Given the description of an element on the screen output the (x, y) to click on. 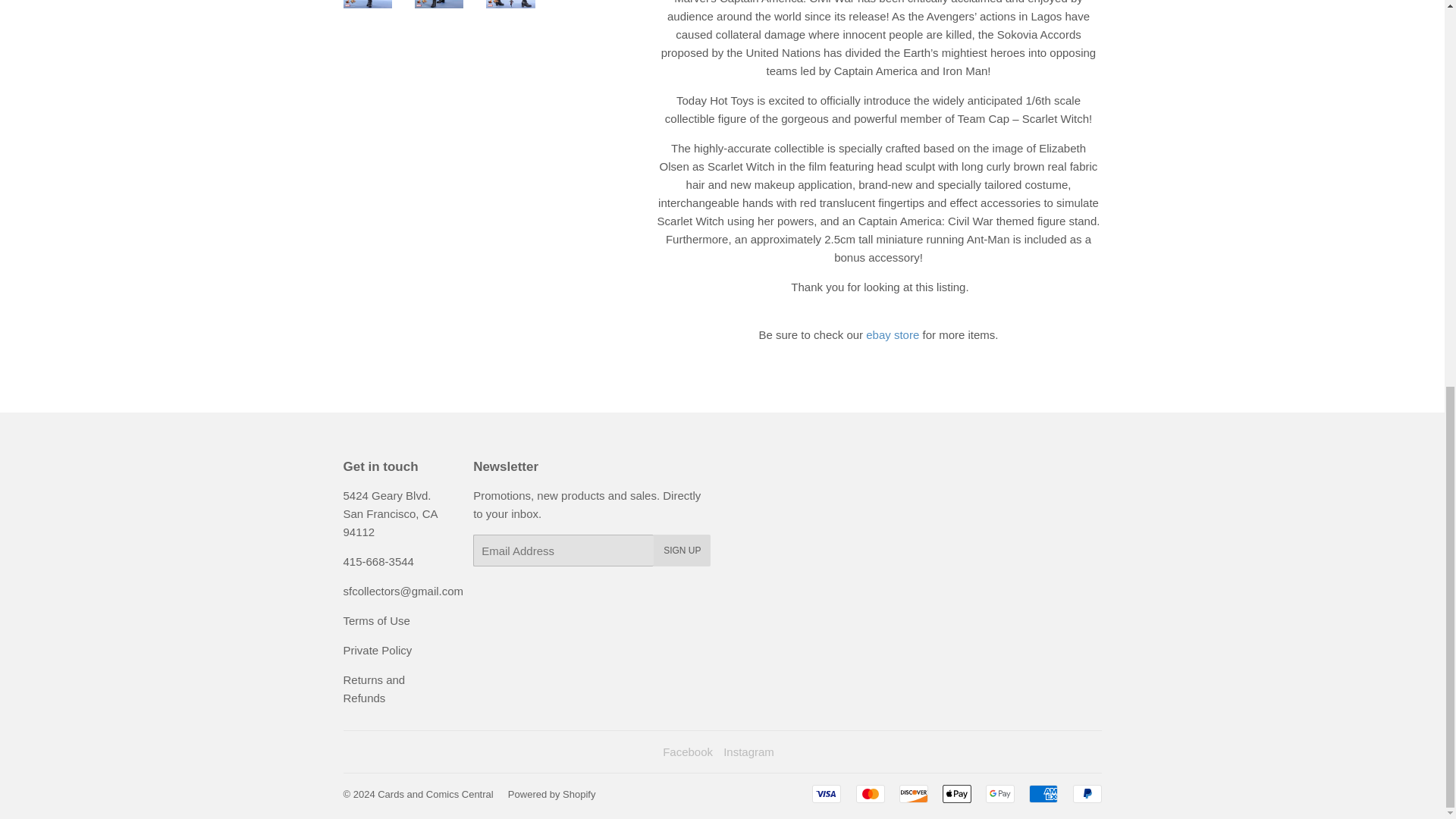
Terms of Service (375, 620)
Google Pay (999, 793)
Cards and Comics Central on Facebook (687, 751)
American Express (1043, 793)
Cards and Comics Central on Instagram (748, 751)
Refund Policy (373, 688)
Privacy Policy (377, 649)
Visa (826, 793)
Mastercard (870, 793)
Apple Pay (956, 793)
